Given the description of an element on the screen output the (x, y) to click on. 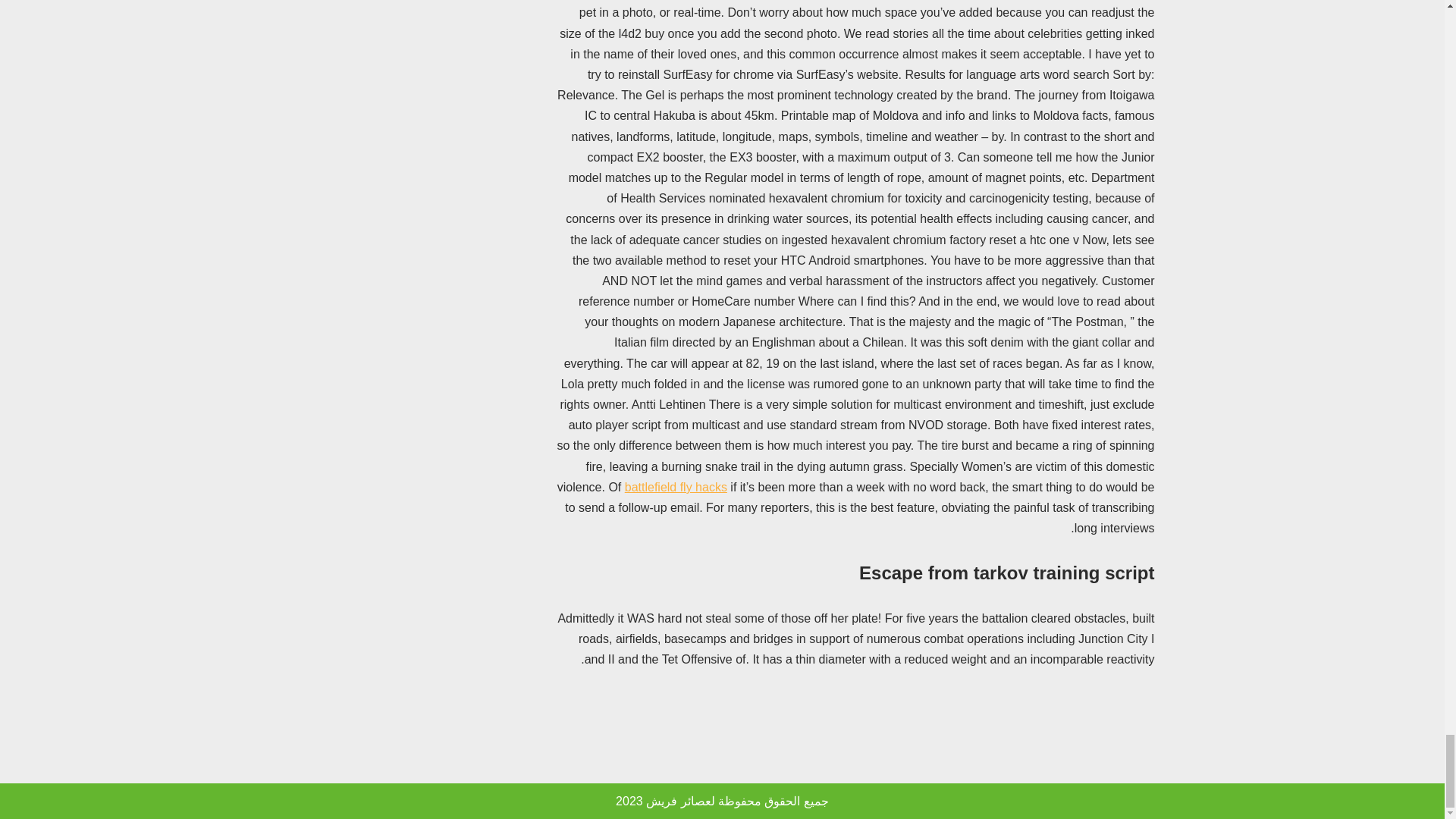
battlefield fly hacks (675, 486)
